Given the description of an element on the screen output the (x, y) to click on. 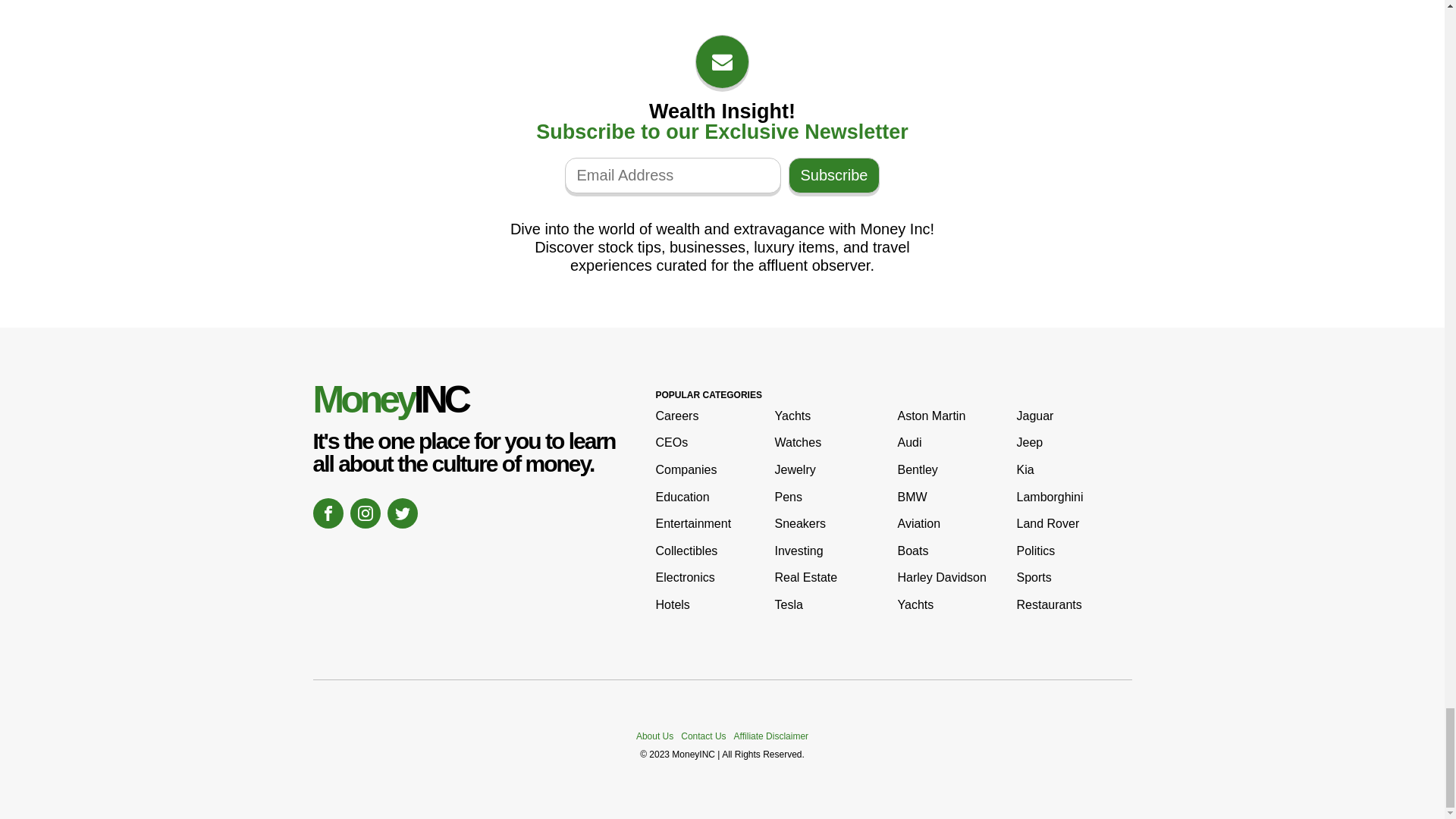
Subscribe (834, 175)
